Given the description of an element on the screen output the (x, y) to click on. 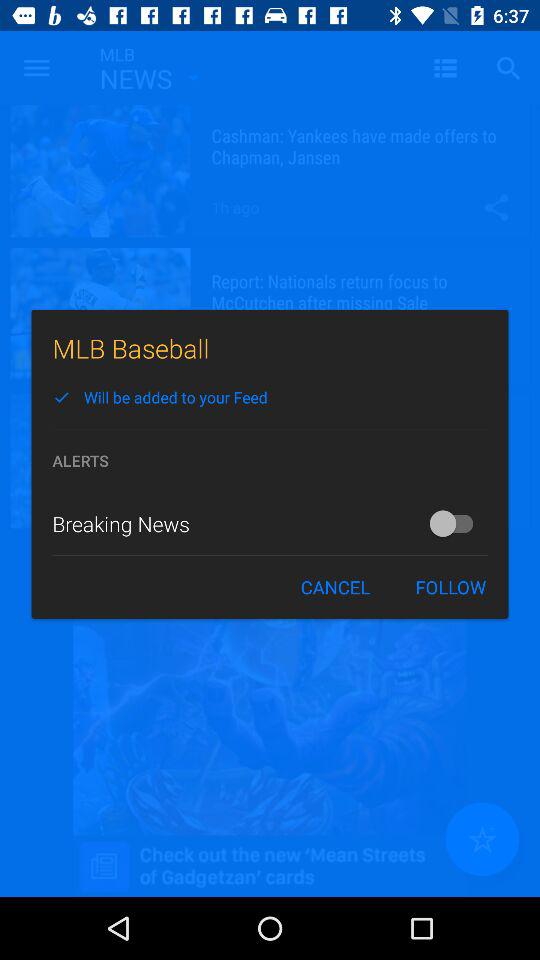
toggle autoplay option (456, 523)
